Given the description of an element on the screen output the (x, y) to click on. 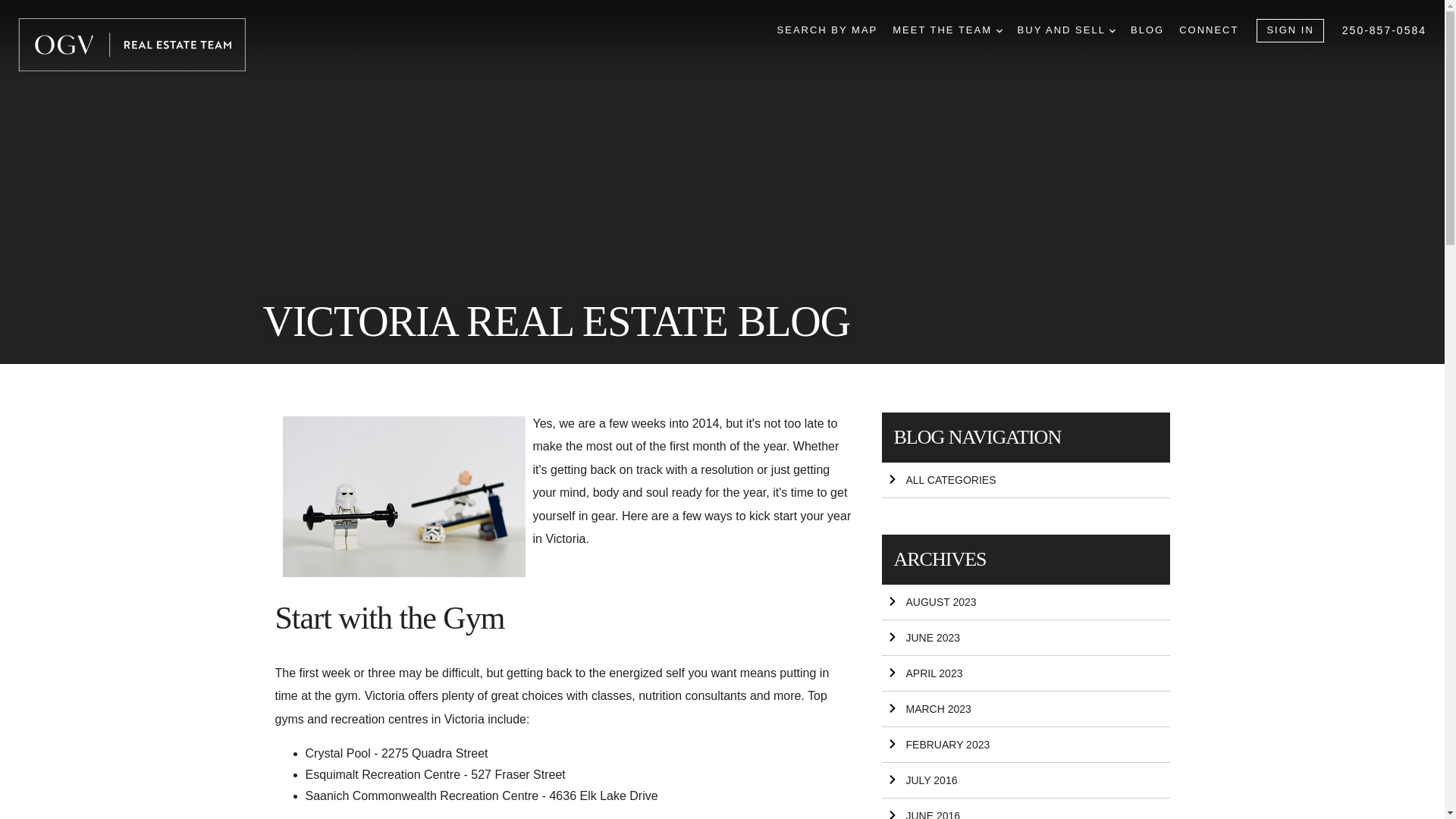
JUNE 2023 (1024, 637)
AUGUST 2023 (1024, 601)
MEET THE TEAM DROPDOWN ARROW (946, 30)
DROPDOWN ARROW (999, 30)
250-857-0584 (1384, 29)
SEARCH BY MAP (827, 30)
MARCH 2023 (1024, 709)
SIGN IN (1289, 30)
CONNECT (1209, 30)
ALL CATEGORIES (1024, 479)
DROPDOWN ARROW (1112, 30)
APRIL 2023 (1024, 673)
BLOG (1147, 30)
BUY AND SELL DROPDOWN ARROW (1066, 30)
